Given the description of an element on the screen output the (x, y) to click on. 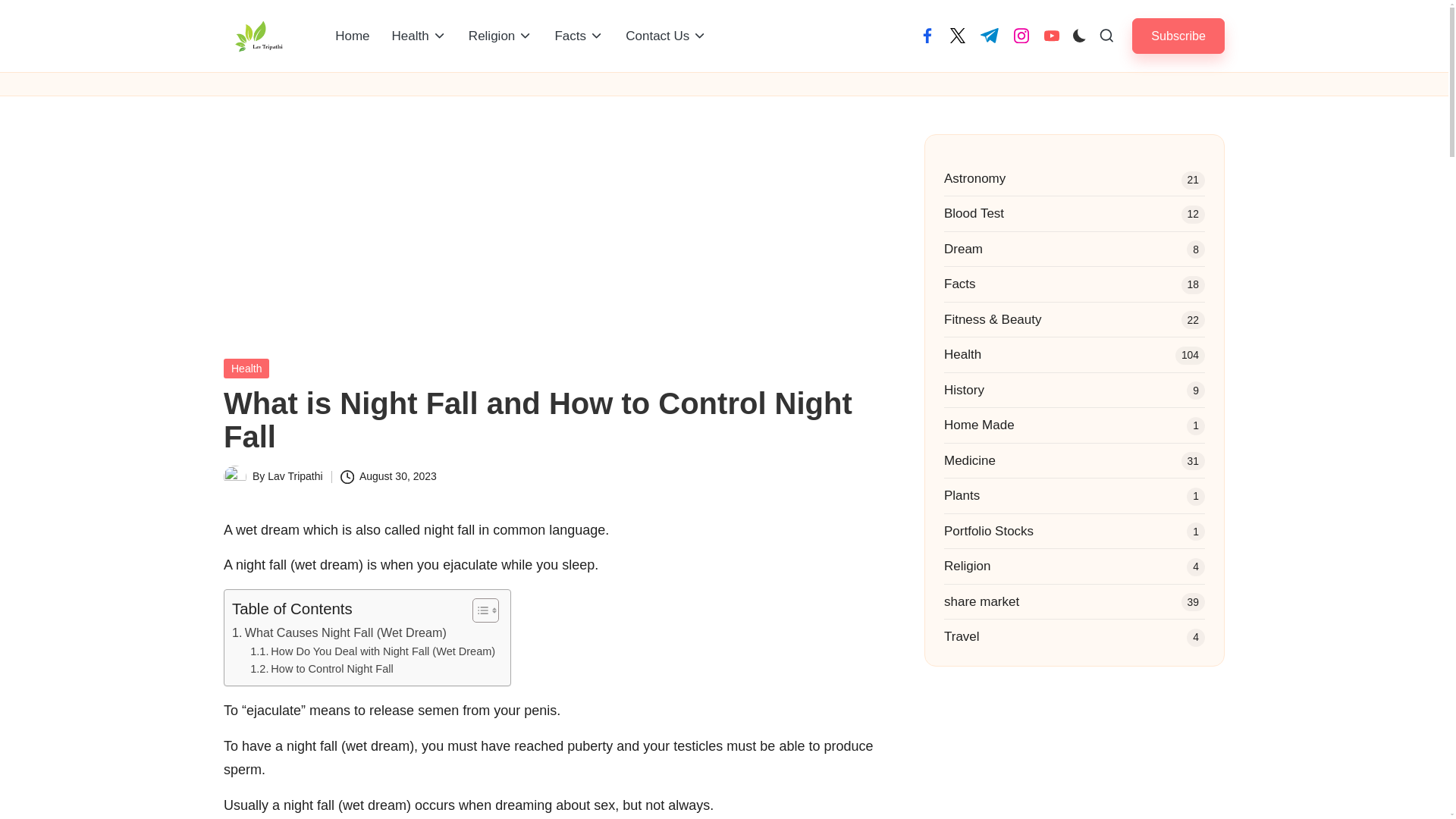
Health (419, 36)
Facts (578, 36)
How to Control Night Fall (321, 669)
Religion (500, 36)
Home (352, 36)
View all posts by Lav Tripathi (294, 476)
